Given the description of an element on the screen output the (x, y) to click on. 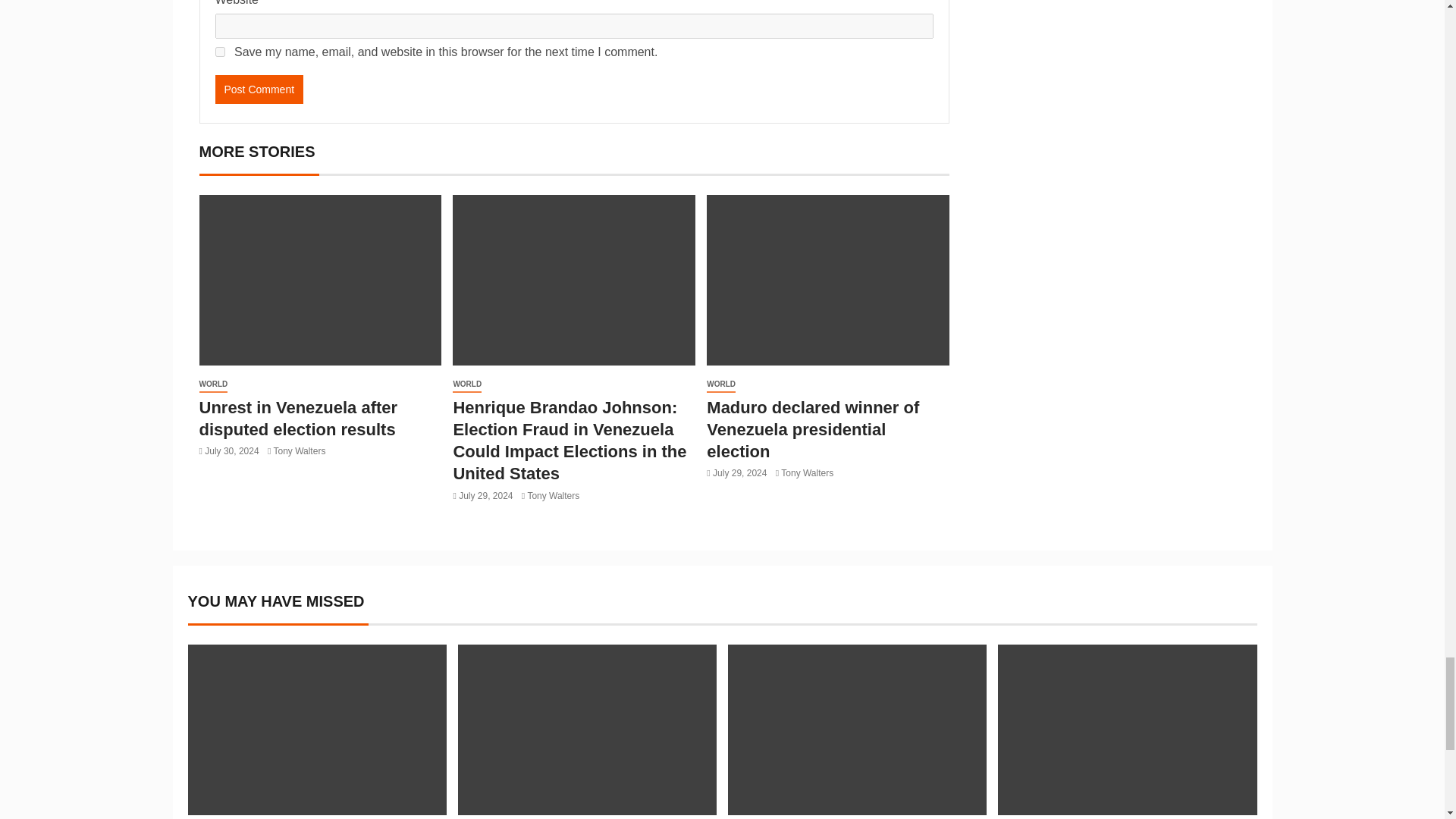
Post Comment (259, 89)
yes (220, 51)
